Given the description of an element on the screen output the (x, y) to click on. 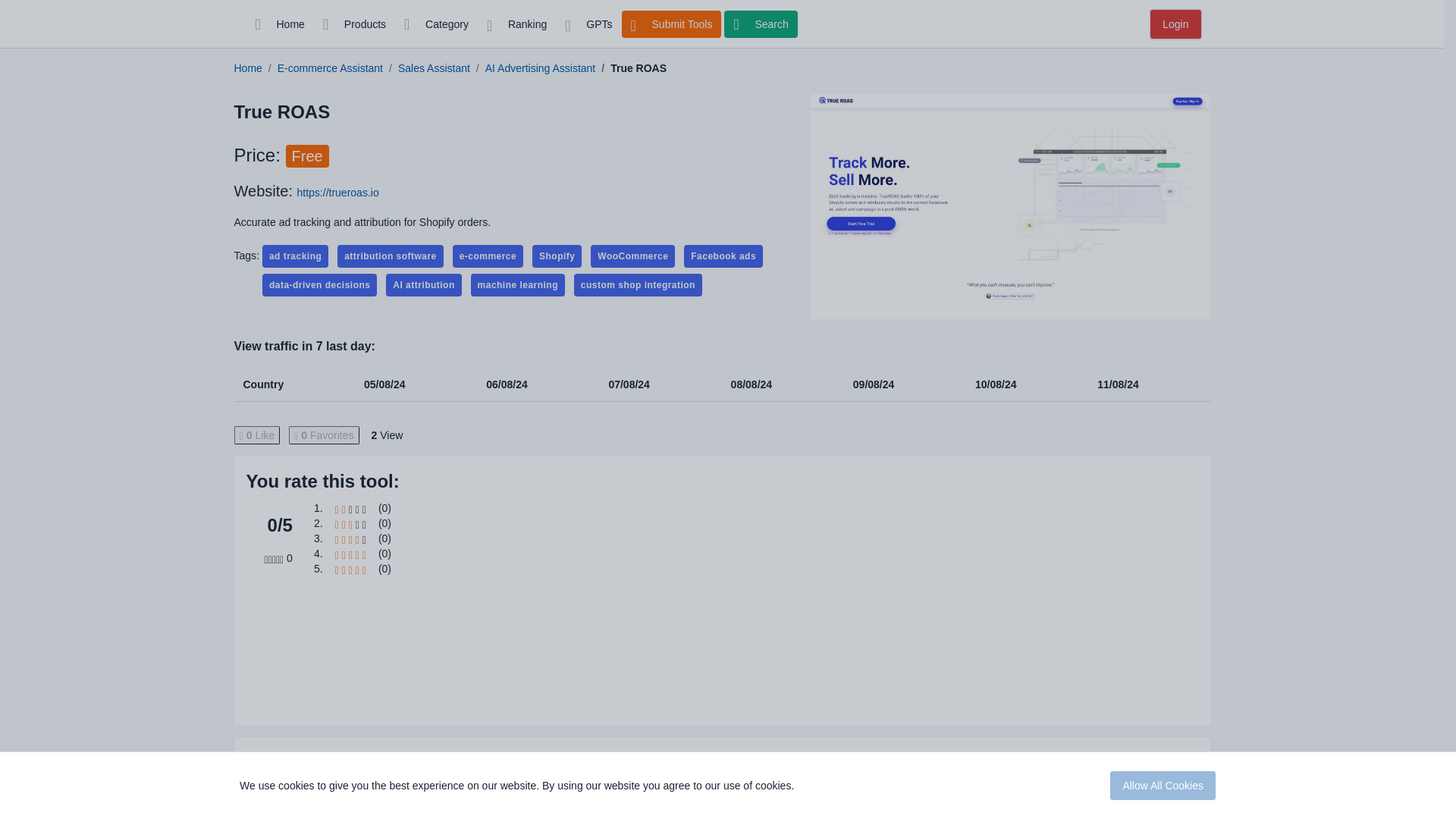
Products (354, 23)
data-driven decisions (319, 284)
Sales Assistant (433, 68)
Login (1175, 24)
Shopify (556, 255)
Home (247, 68)
Facebook ads (723, 255)
ad tracking (295, 255)
Ranking (516, 23)
E-commerce Assistant (330, 68)
